Given the description of an element on the screen output the (x, y) to click on. 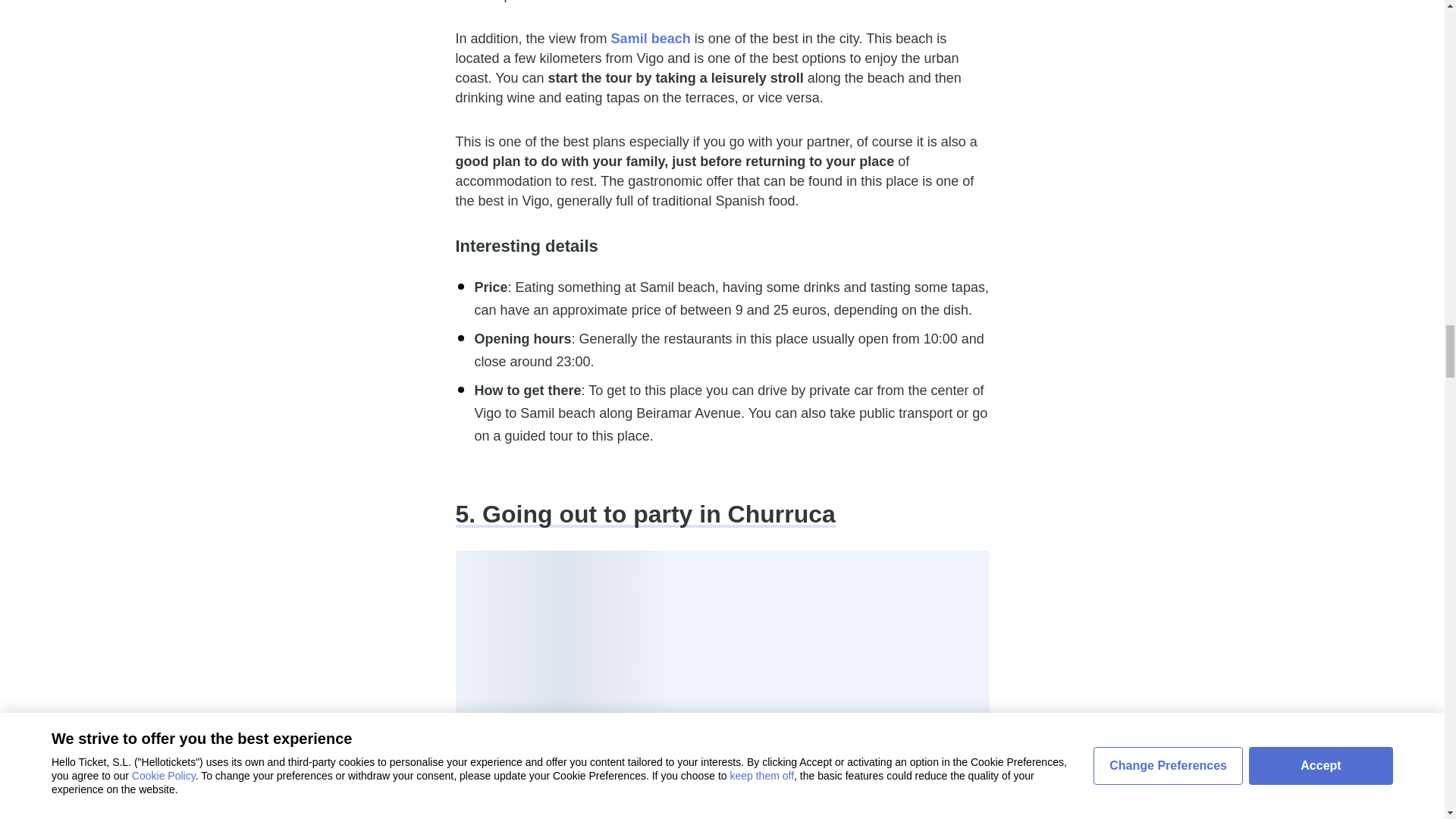
Samil beach (650, 38)
